Given the description of an element on the screen output the (x, y) to click on. 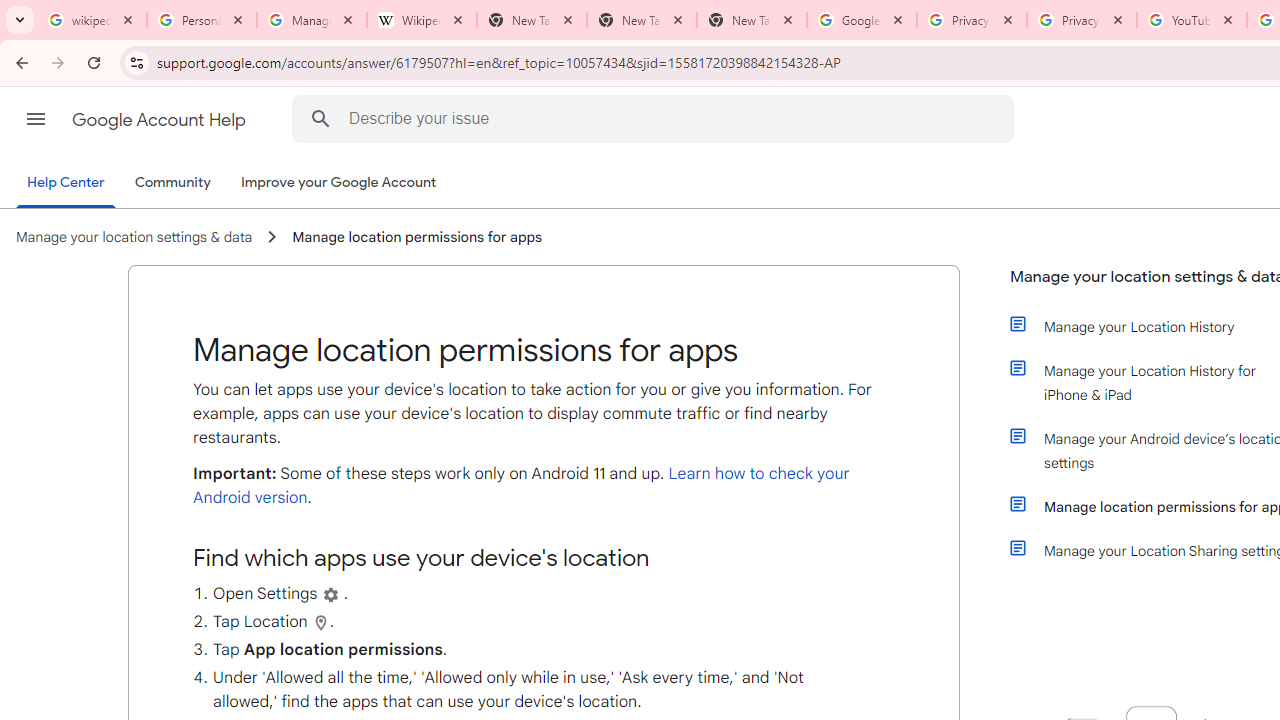
Main menu (35, 119)
New Tab (642, 20)
YouTube (1191, 20)
Manage location permissions for apps (416, 237)
New Tab (752, 20)
Help Center (65, 183)
Google Account Help (160, 119)
Improve your Google Account (339, 183)
Community (171, 183)
Describe your issue (655, 118)
